Given the description of an element on the screen output the (x, y) to click on. 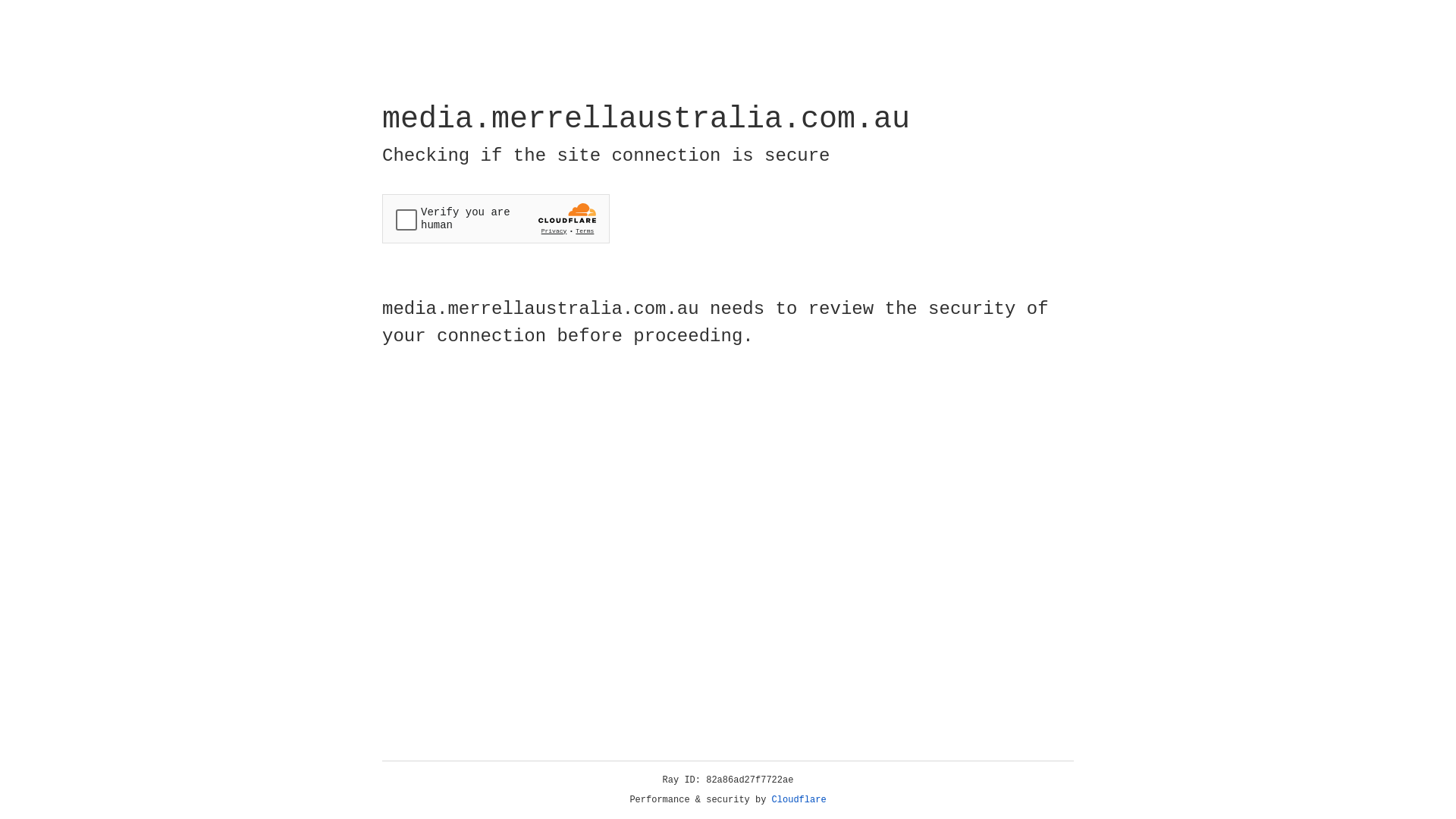
Cloudflare Element type: text (798, 799)
Widget containing a Cloudflare security challenge Element type: hover (495, 218)
